Given the description of an element on the screen output the (x, y) to click on. 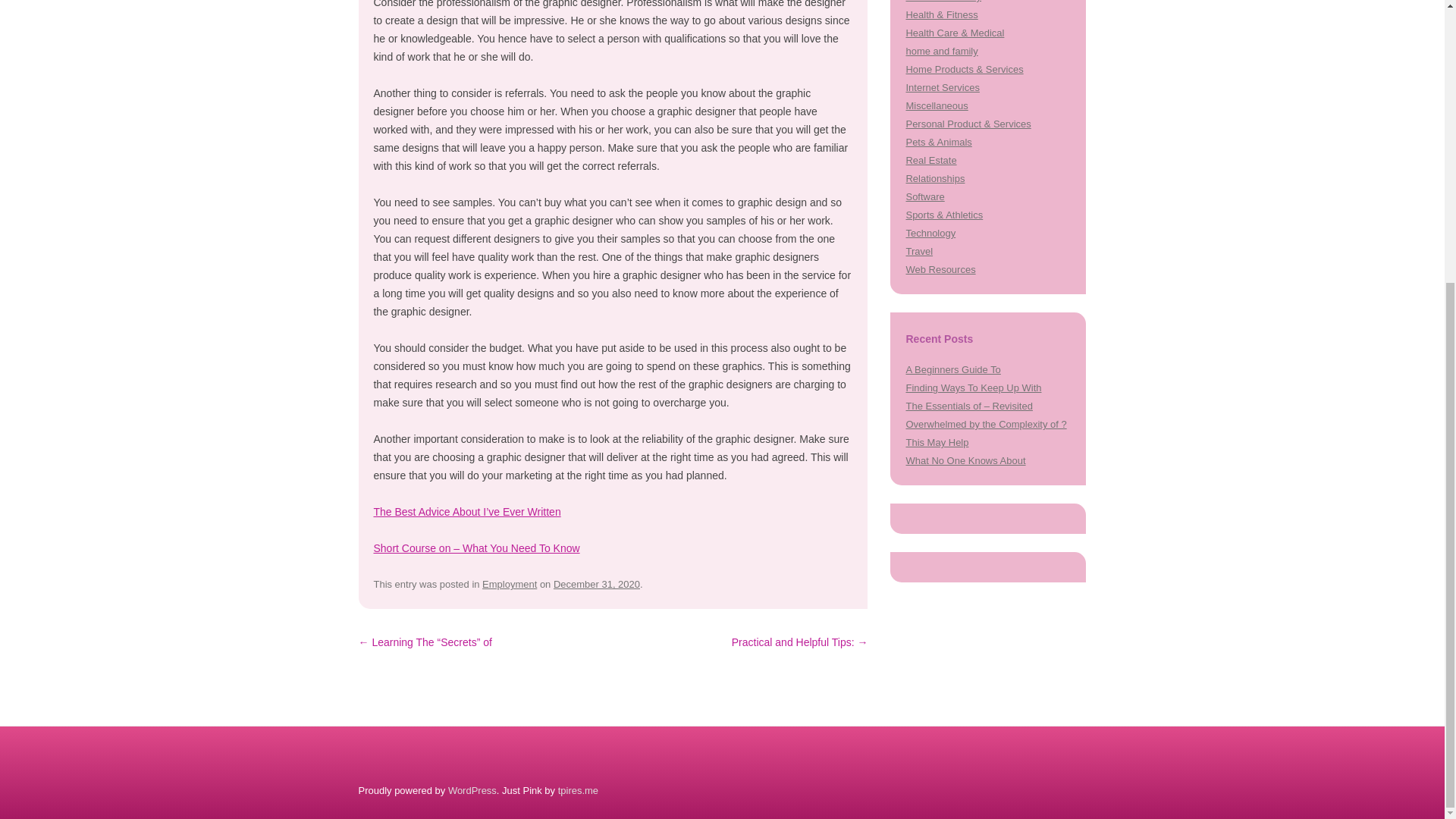
Software (924, 196)
December 31, 2020 (596, 583)
Finding Ways To Keep Up With (973, 387)
Semantic Personal Publishing Platform (472, 790)
4:06 pm (596, 583)
Employment (509, 583)
Relationships (934, 178)
Miscellaneous (936, 105)
home and family (940, 50)
Web Resources (940, 269)
Internet Services (941, 87)
A Beginners Guide To (952, 369)
Real Estate (930, 160)
Overwhelmed by the Complexity of ? This May Help (985, 432)
Travel (919, 251)
